Given the description of an element on the screen output the (x, y) to click on. 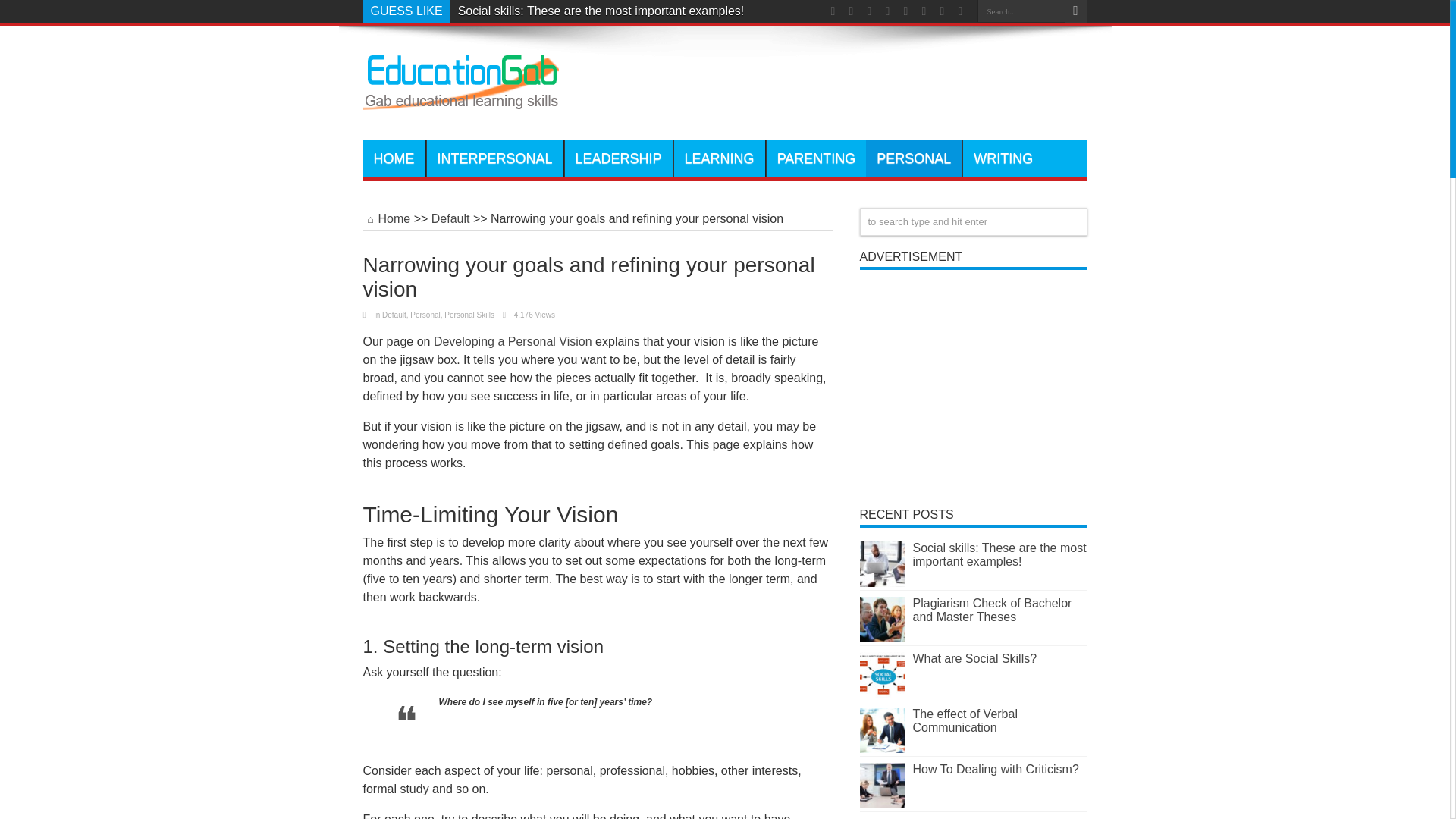
Search (1075, 11)
PERSONAL (913, 158)
WRITING (1002, 158)
Search... (1020, 11)
PARENTING (815, 158)
Social skills: These are the most important examples! (601, 11)
LEARNING (718, 158)
EducationGab (459, 101)
LEADERSHIP (618, 158)
Social skills: These are the most important examples! (601, 11)
